Given the description of an element on the screen output the (x, y) to click on. 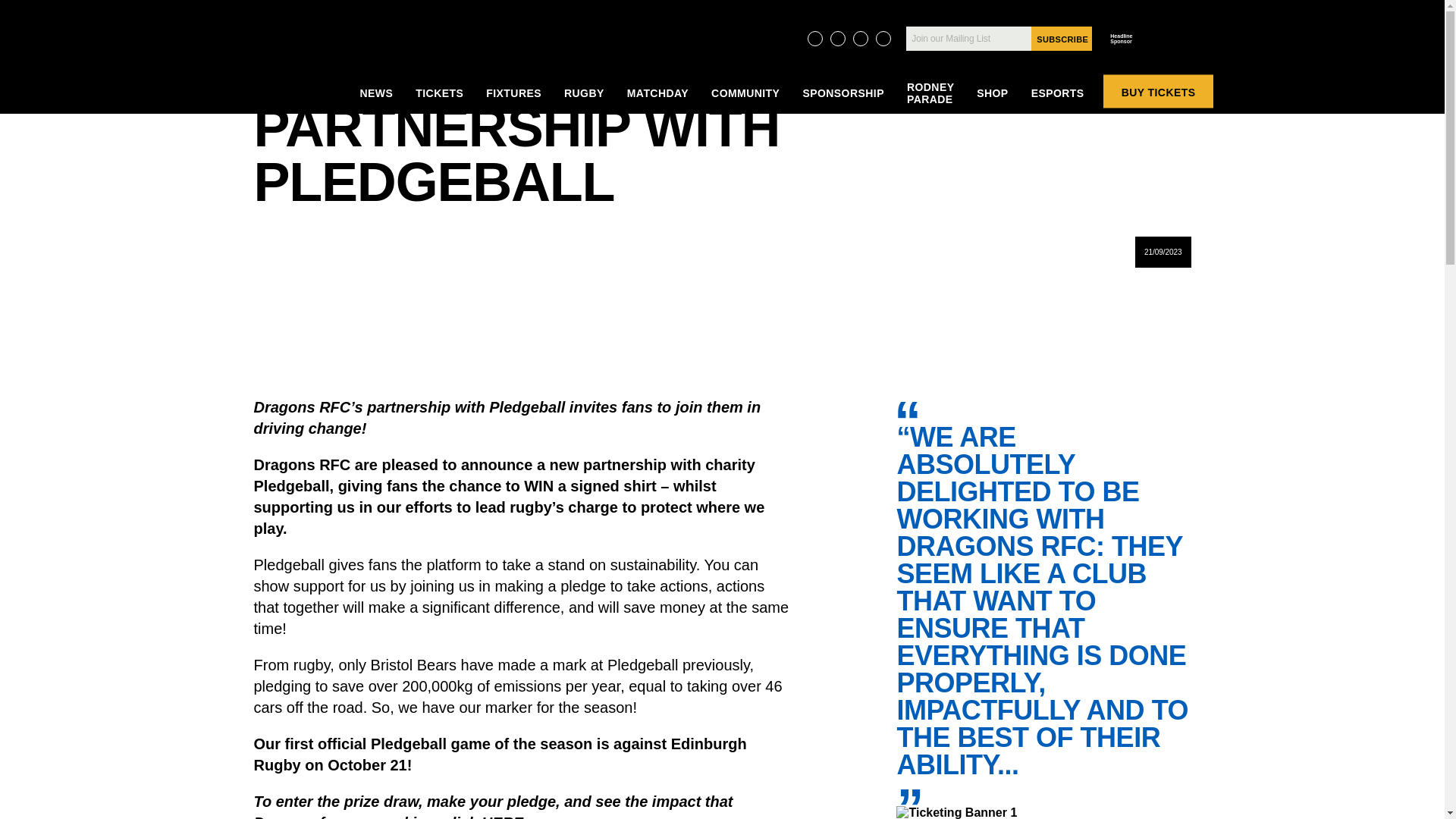
SPONSORSHIP (842, 96)
SHOP (991, 96)
MATCHDAY (658, 96)
NEWS (376, 96)
BUY TICKETS (1158, 90)
Esports (1057, 96)
RODNEY PARADE (930, 96)
RUGBY (584, 96)
SUBSCRIBE (1061, 38)
Shop (991, 96)
